Given the description of an element on the screen output the (x, y) to click on. 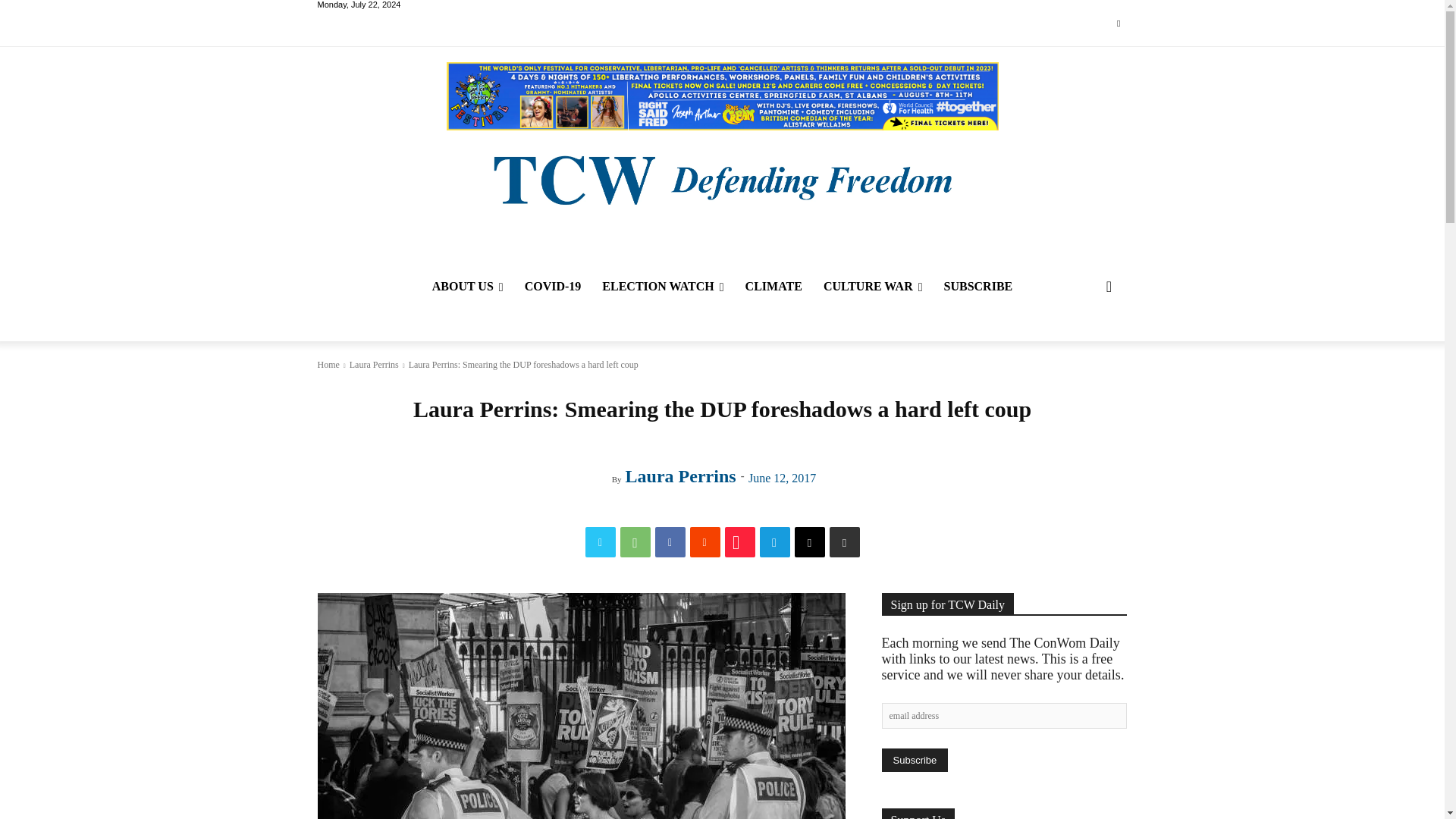
Gettr (740, 542)
Telegram (775, 542)
COVID-19 (552, 286)
ELECTION WATCH (662, 286)
Twitter (1117, 23)
Facebook (670, 542)
ABOUT US (467, 286)
Subscribe (913, 760)
CLIMATE (773, 286)
Twitter (600, 542)
WhatsApp (635, 542)
View all posts in Laura Perrins (373, 364)
ReddIt (705, 542)
The Conservative Woman (721, 178)
